Given the description of an element on the screen output the (x, y) to click on. 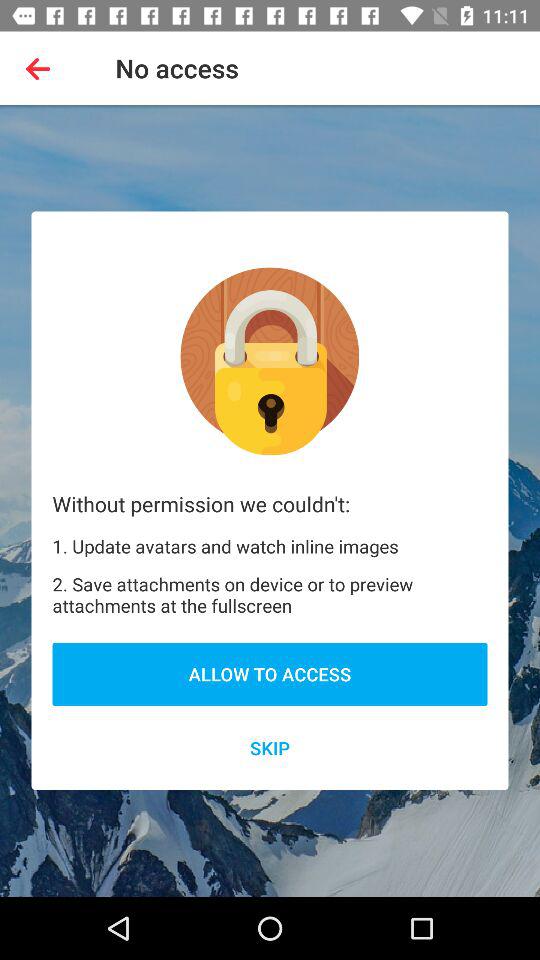
turn on the skip item (269, 747)
